Given the description of an element on the screen output the (x, y) to click on. 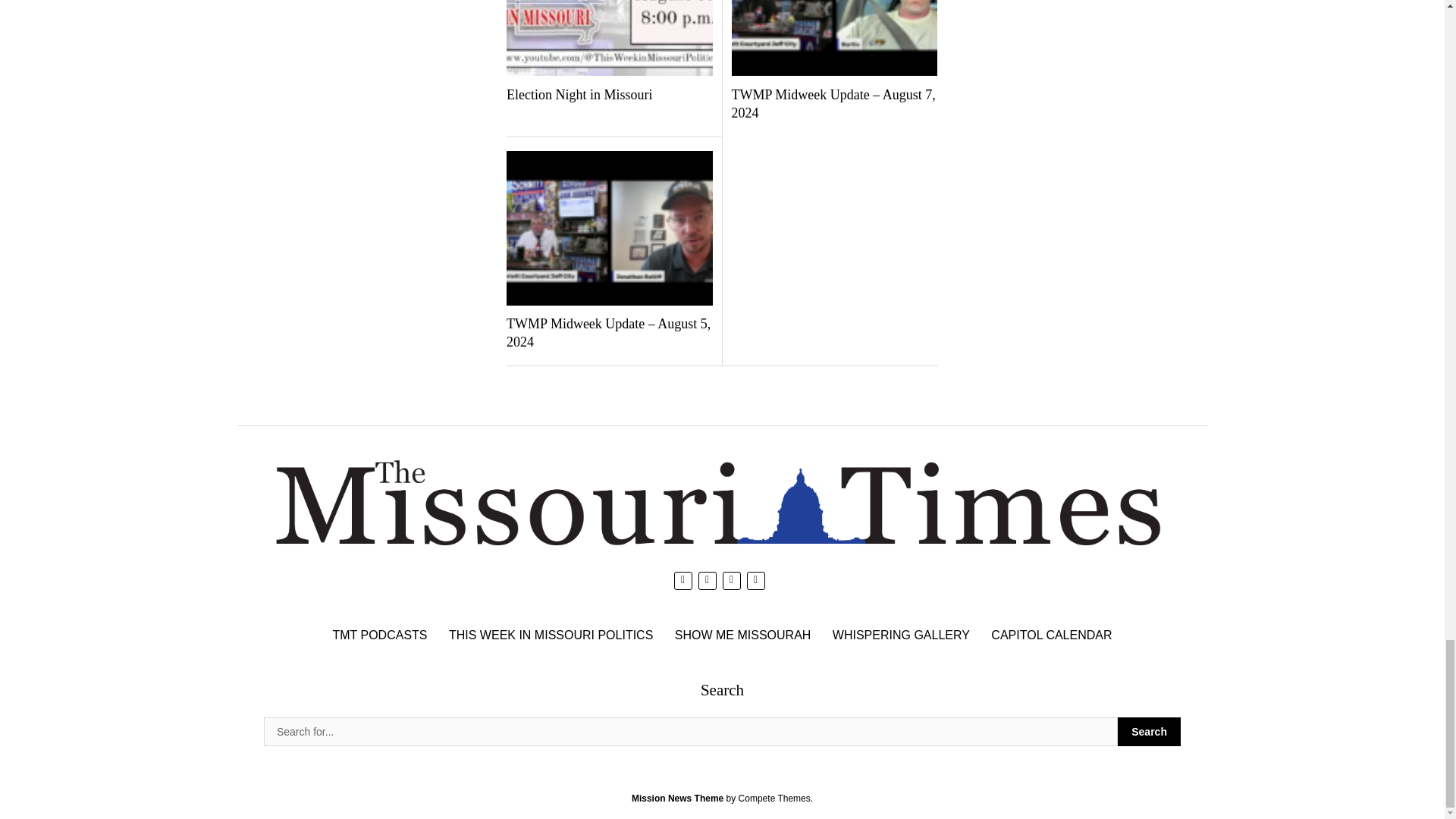
Search (690, 731)
Search (1149, 731)
Search (1149, 731)
